Given the description of an element on the screen output the (x, y) to click on. 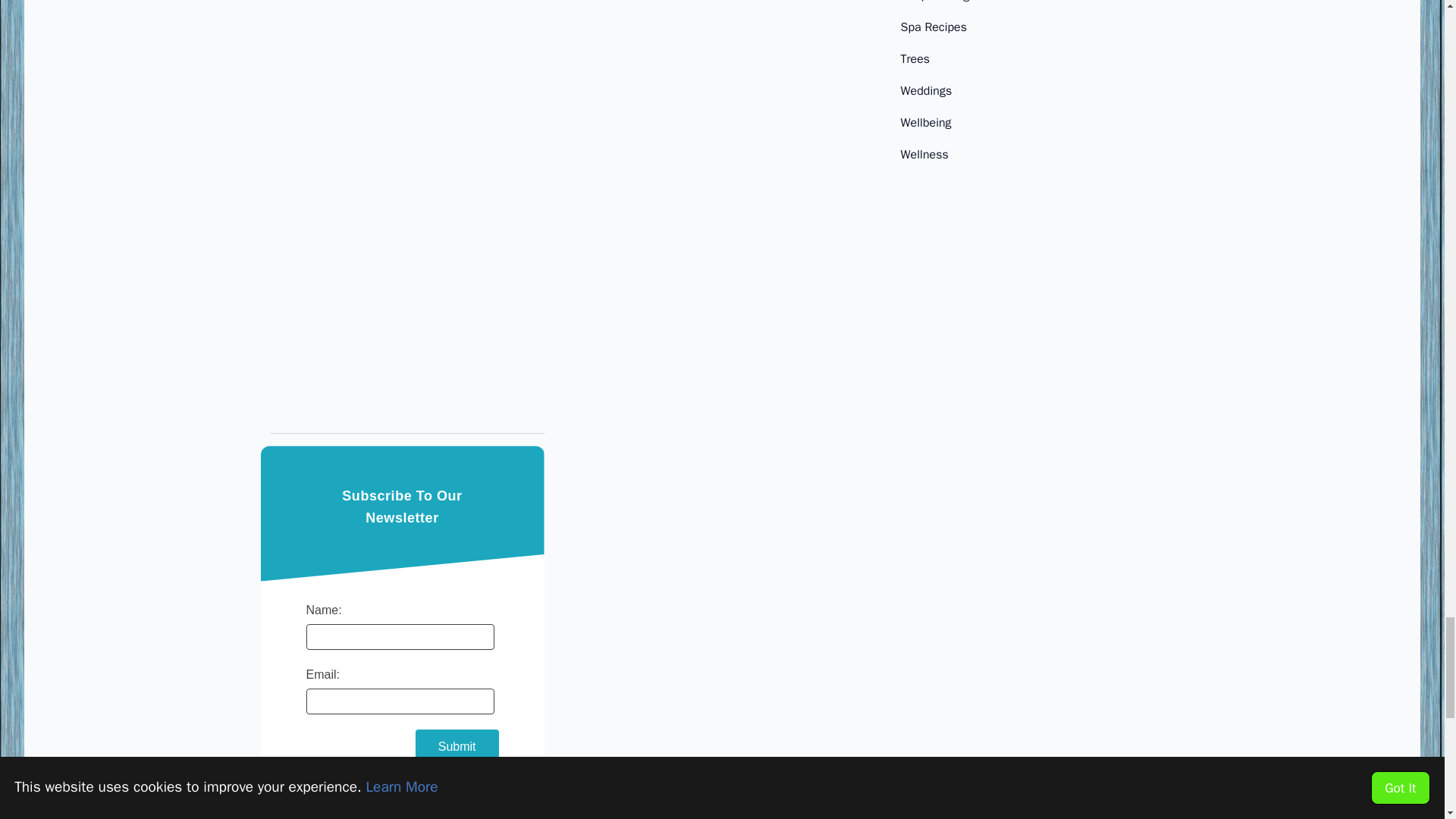
Privacy Policy (427, 792)
Submit (456, 746)
